Given the description of an element on the screen output the (x, y) to click on. 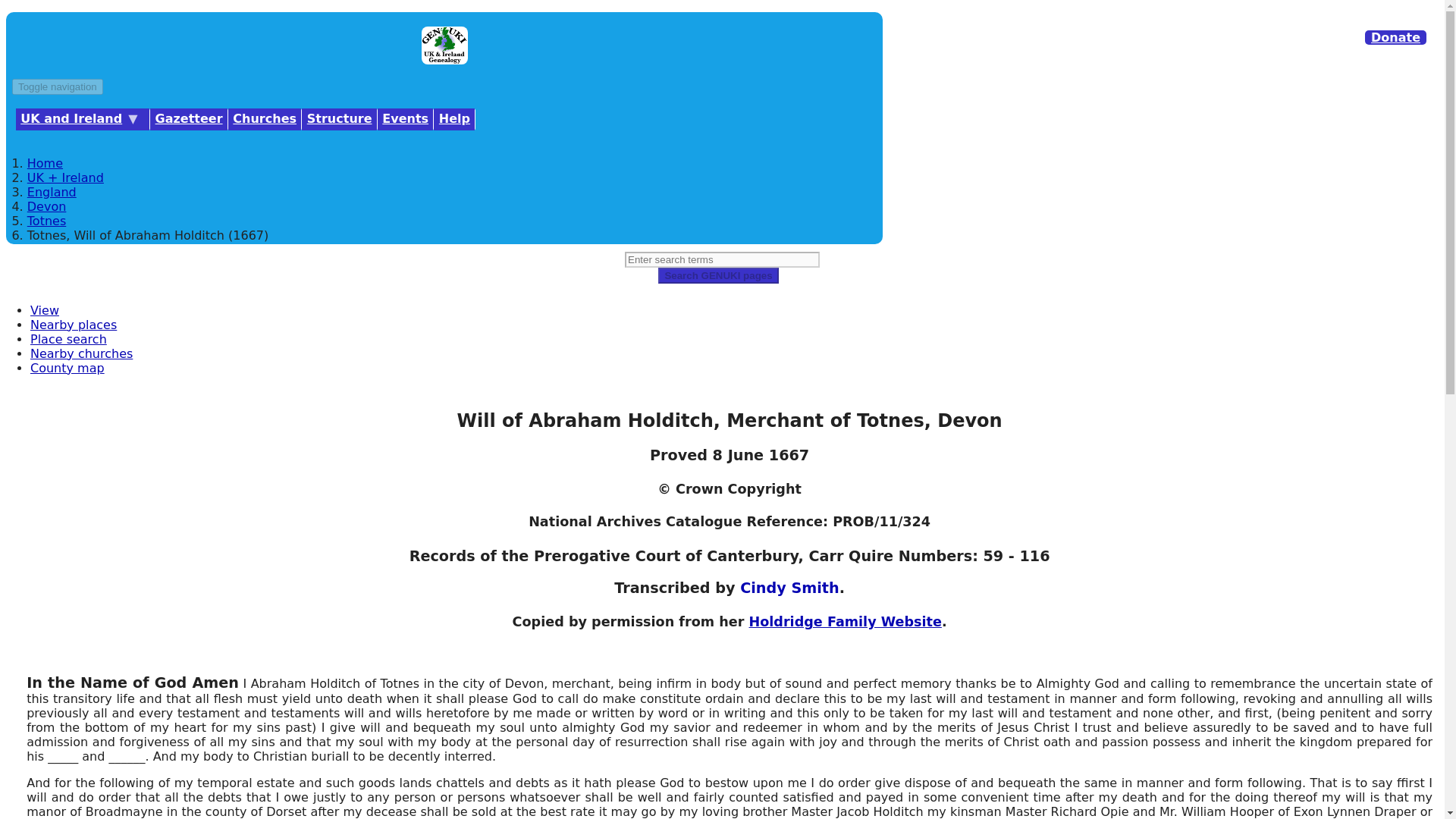
Toggle navigation (57, 86)
United Kingdom and Ireland (82, 119)
Home (443, 59)
